Given the description of an element on the screen output the (x, y) to click on. 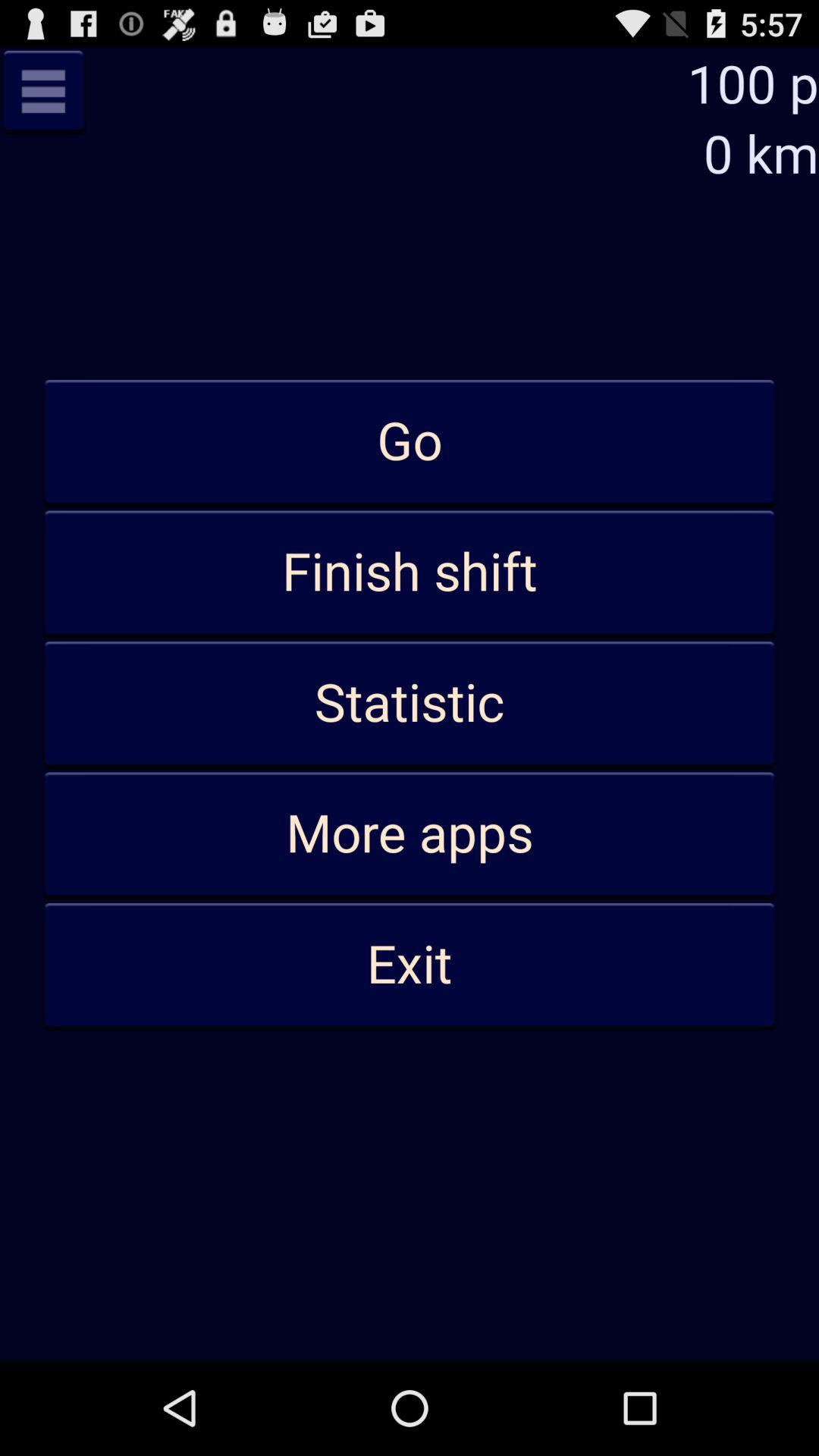
go to minimize (43, 90)
